Given the description of an element on the screen output the (x, y) to click on. 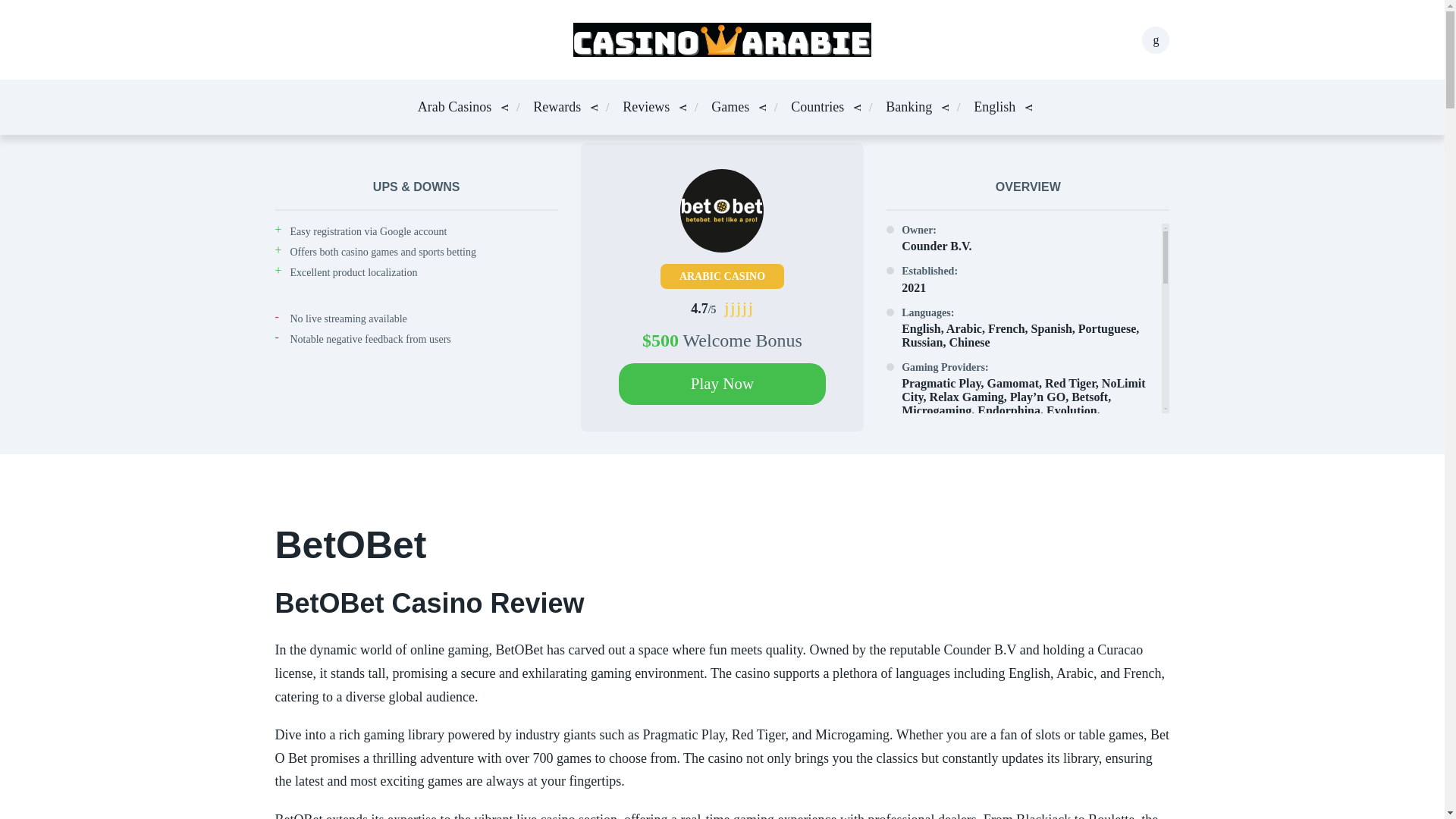
Countries (817, 107)
Rewards (556, 107)
Arab Casinos (454, 107)
Games (730, 107)
Reviews (646, 107)
English (994, 107)
